Given the description of an element on the screen output the (x, y) to click on. 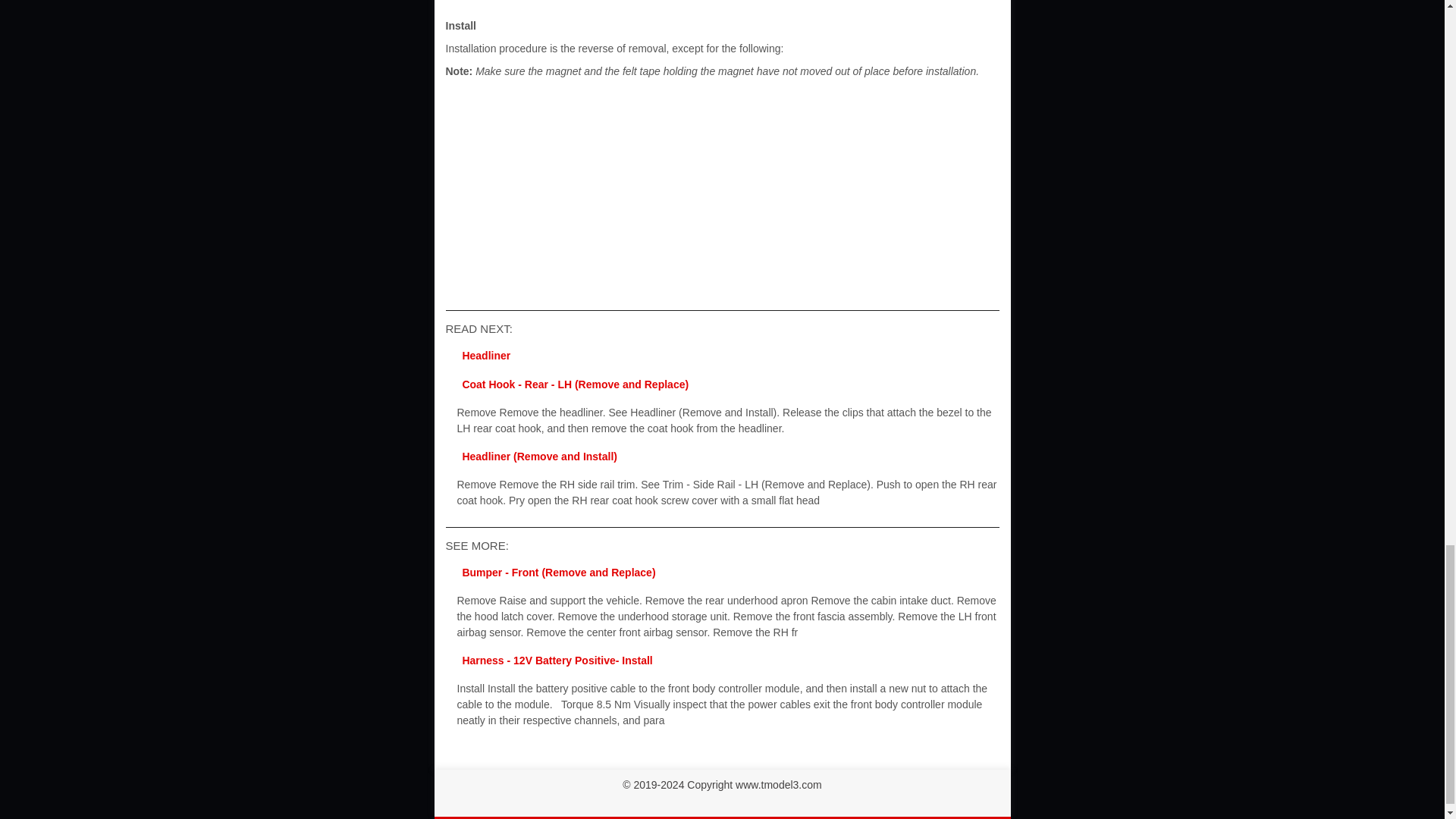
Harness - 12V Battery Positive- Install (556, 660)
Headliner (486, 355)
